Given the description of an element on the screen output the (x, y) to click on. 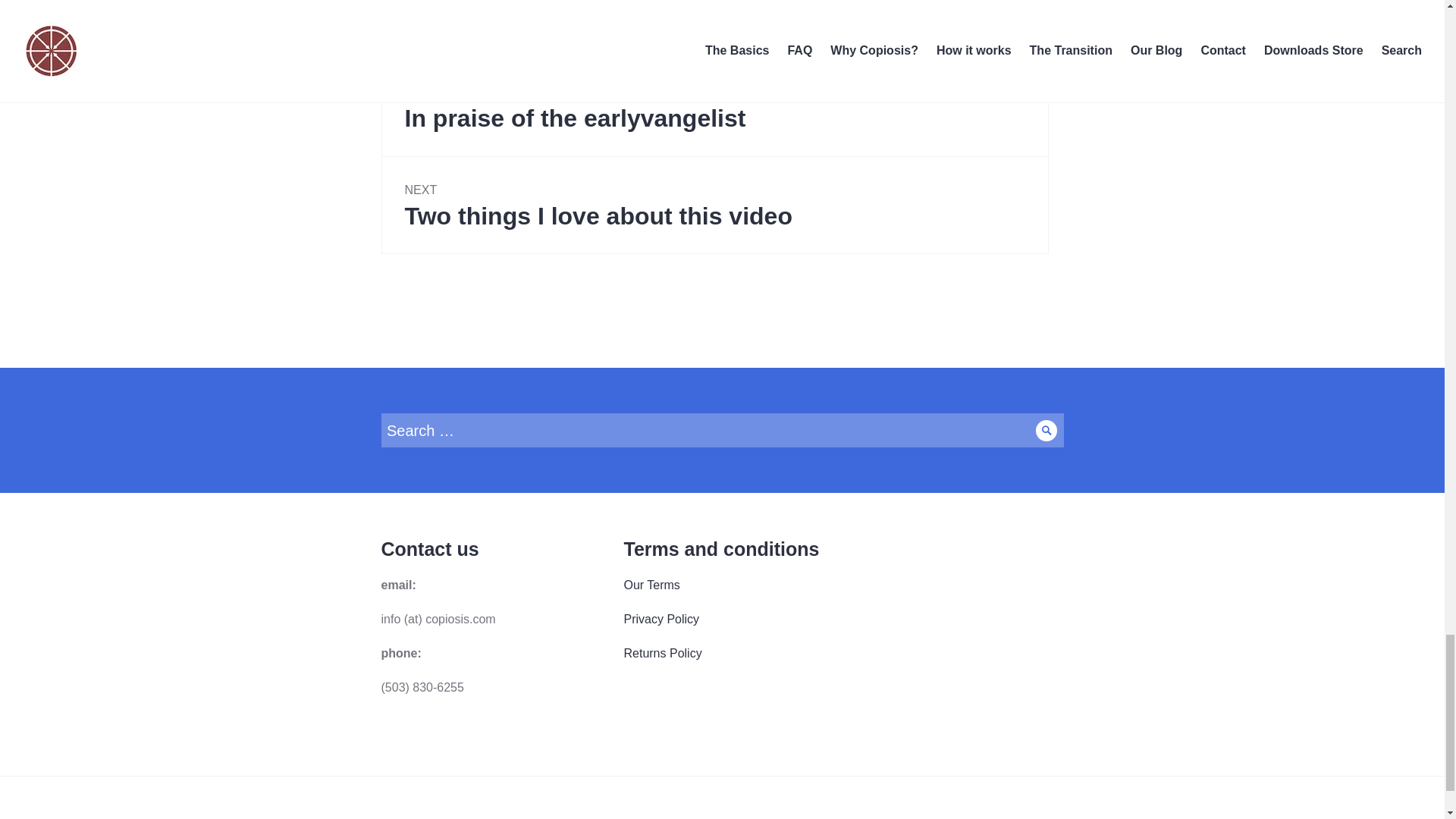
Returns Policy (662, 653)
Search for: (714, 204)
Search (721, 430)
Privacy Policy (1046, 430)
Our Terms (714, 107)
